Given the description of an element on the screen output the (x, y) to click on. 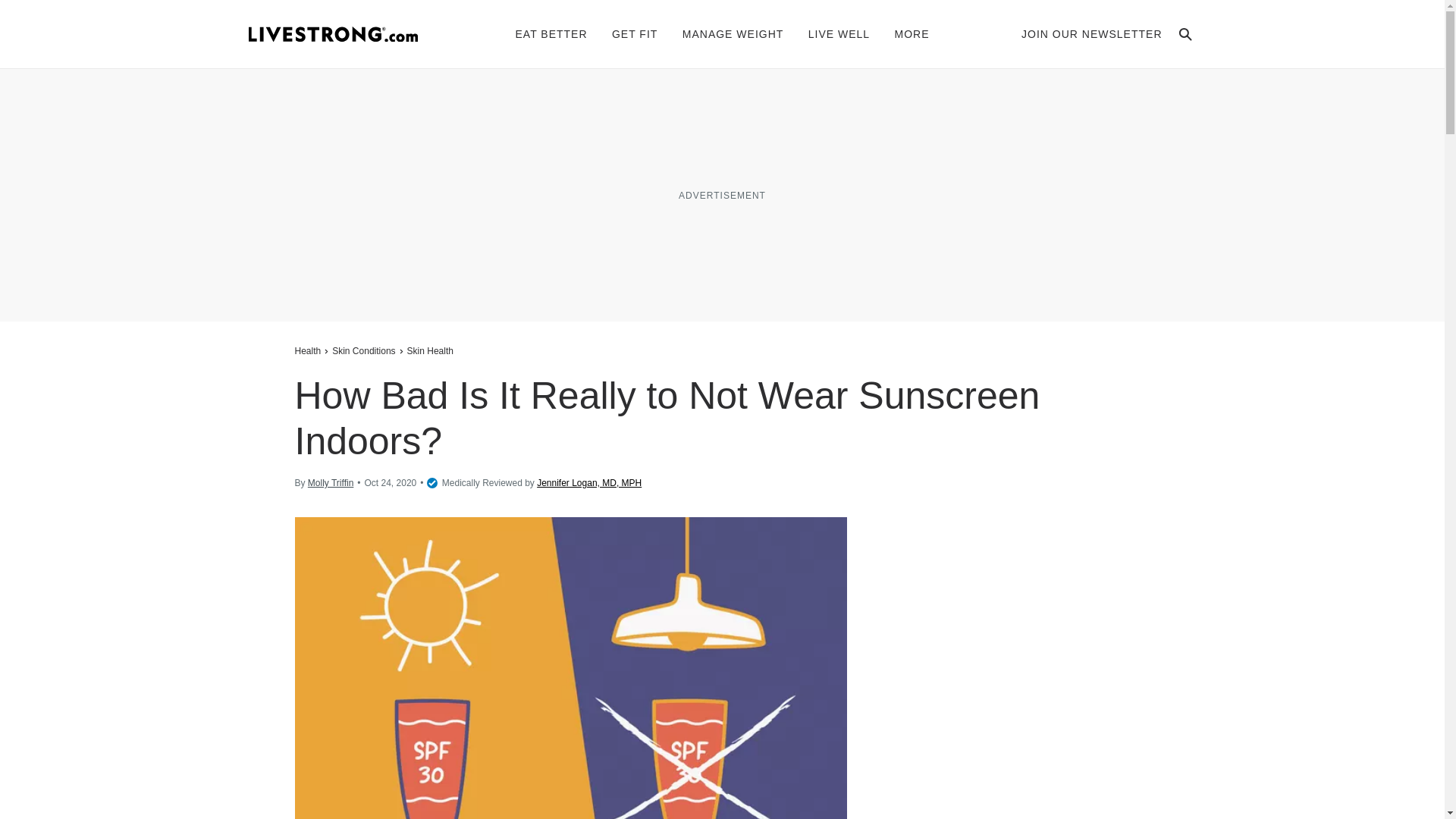
EAT BETTER (551, 33)
Health (309, 350)
Skin Health (430, 350)
JOIN OUR NEWSLETTER (1091, 33)
MANAGE WEIGHT (733, 33)
Skin Conditions (363, 350)
Jennifer Logan, MD, MPH (589, 482)
GET FIT (634, 33)
LIVE WELL (838, 33)
Molly Triffin (330, 482)
